Given the description of an element on the screen output the (x, y) to click on. 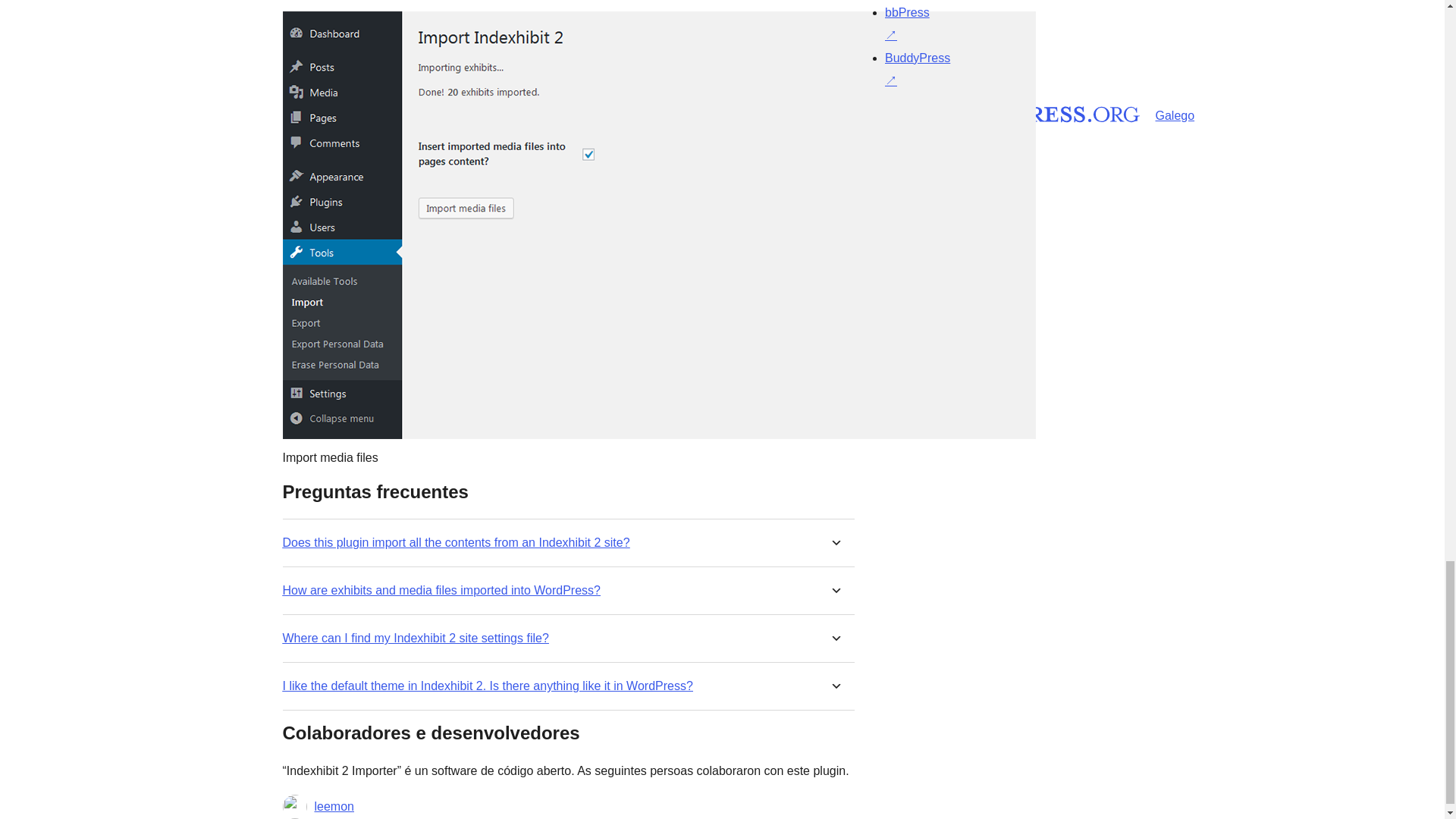
WordPress.org (1014, 111)
WordPress.org (864, 111)
How are exhibits and media files imported into WordPress? (440, 590)
